Given the description of an element on the screen output the (x, y) to click on. 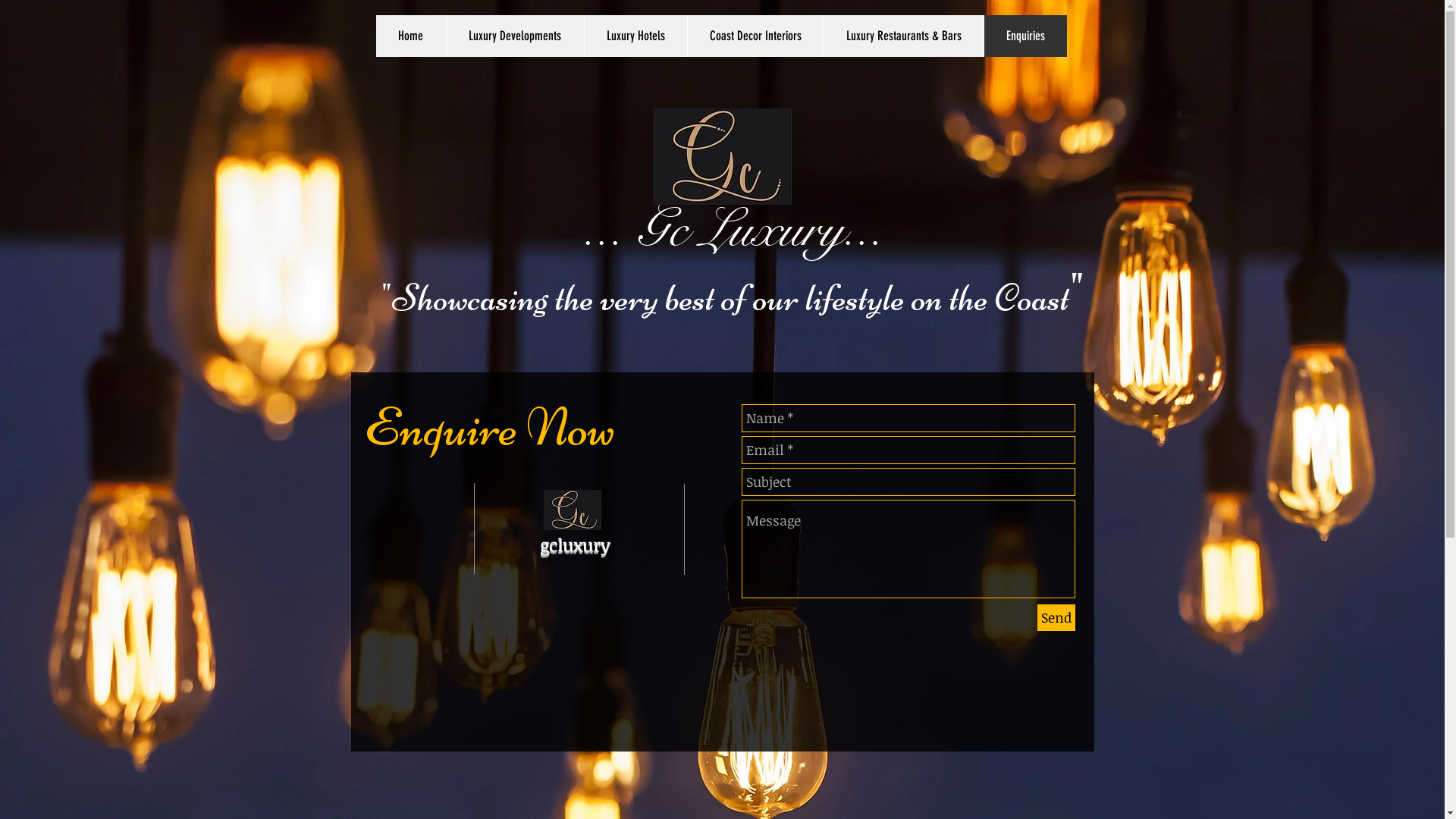
Enquiries Element type: text (1024, 35)
Home Element type: text (410, 35)
Send Element type: text (1056, 617)
Coast Decor Interiors Element type: text (755, 35)
Luxury Hotels Element type: text (635, 35)
Luxury Restaurants & Bars Element type: text (903, 35)
Luxury Developments Element type: text (514, 35)
